Given the description of an element on the screen output the (x, y) to click on. 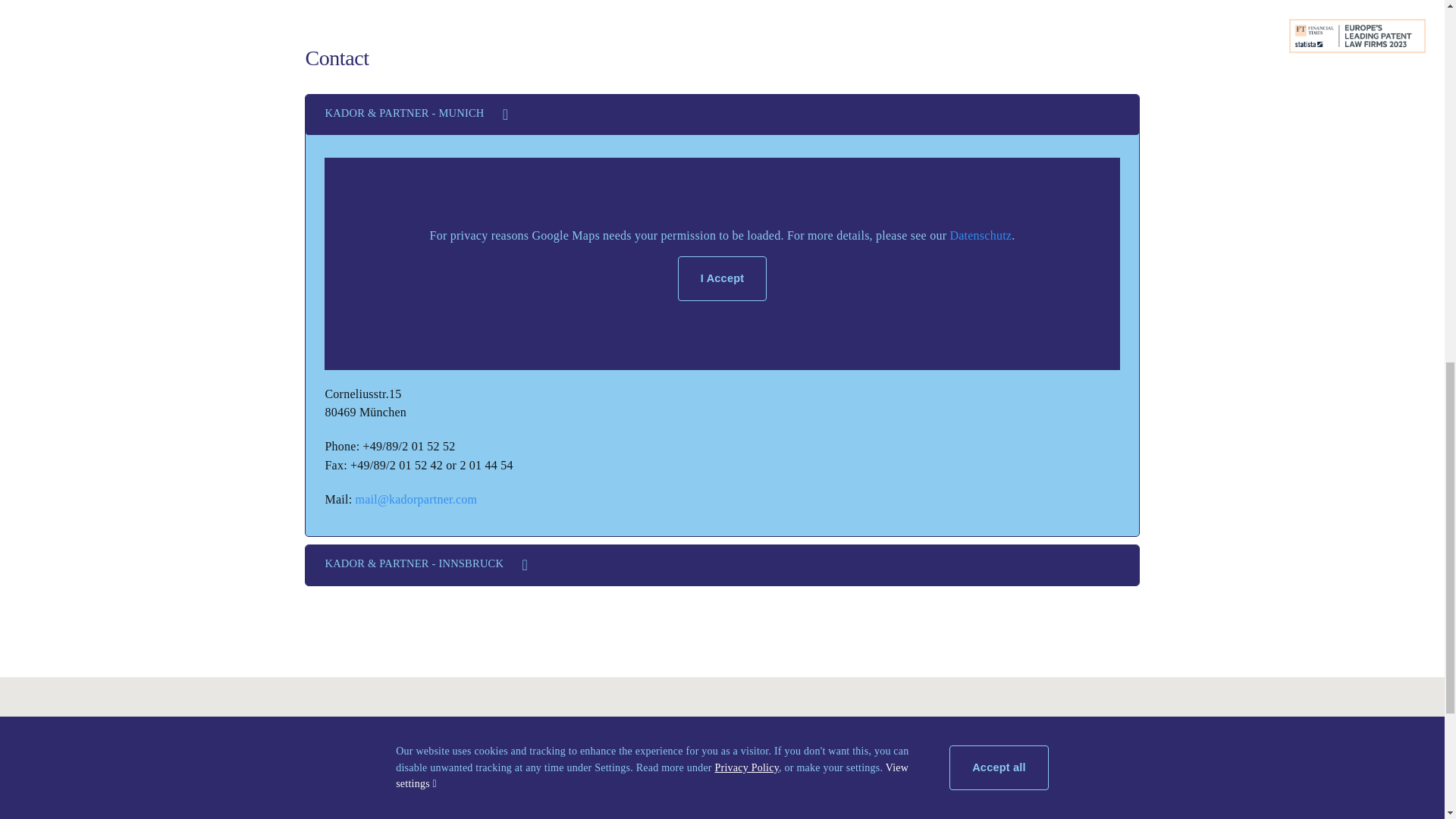
Datenschutz (980, 235)
I Accept (722, 278)
